Given the description of an element on the screen output the (x, y) to click on. 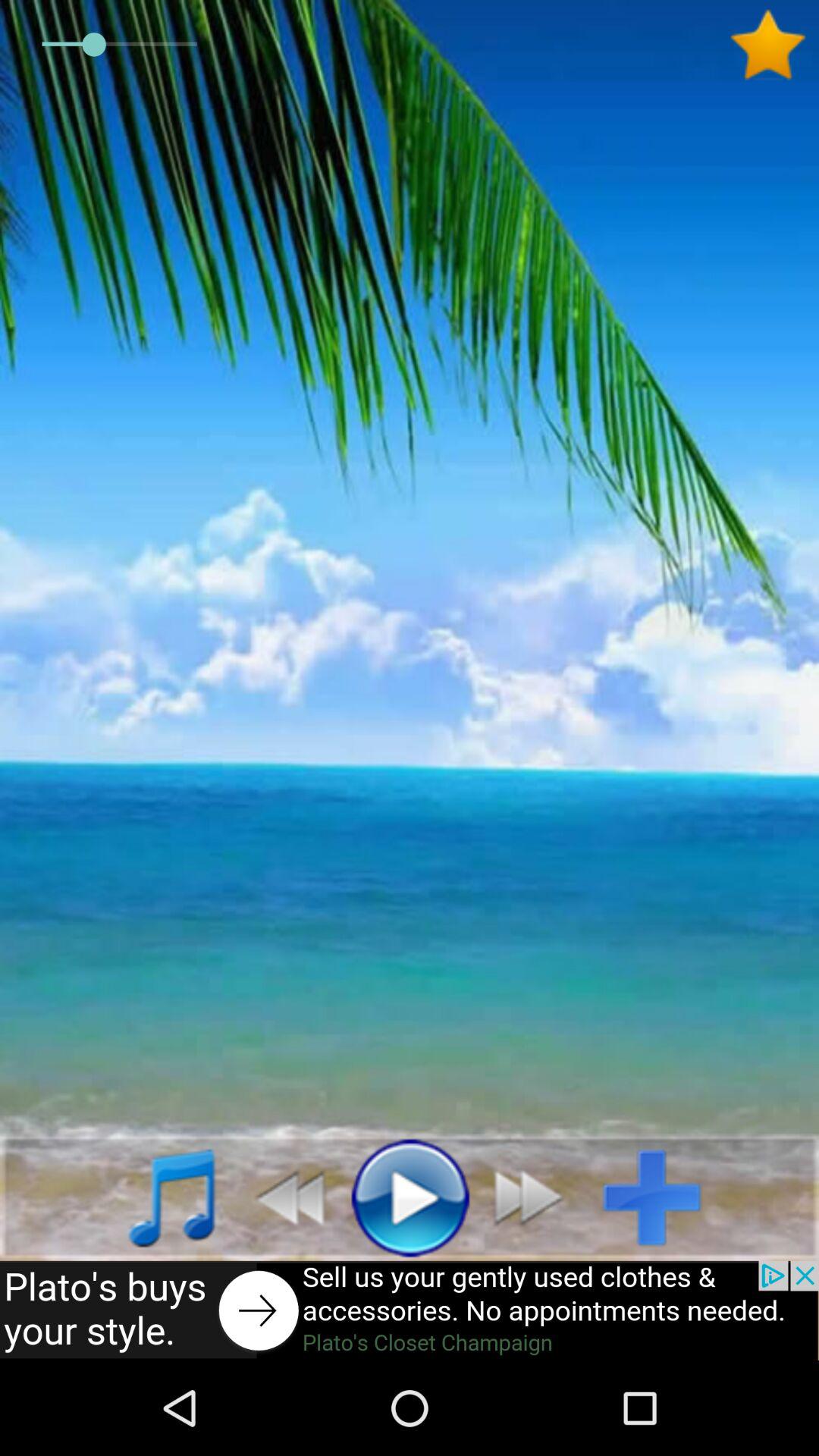
click the backward option (281, 1196)
